Given the description of an element on the screen output the (x, y) to click on. 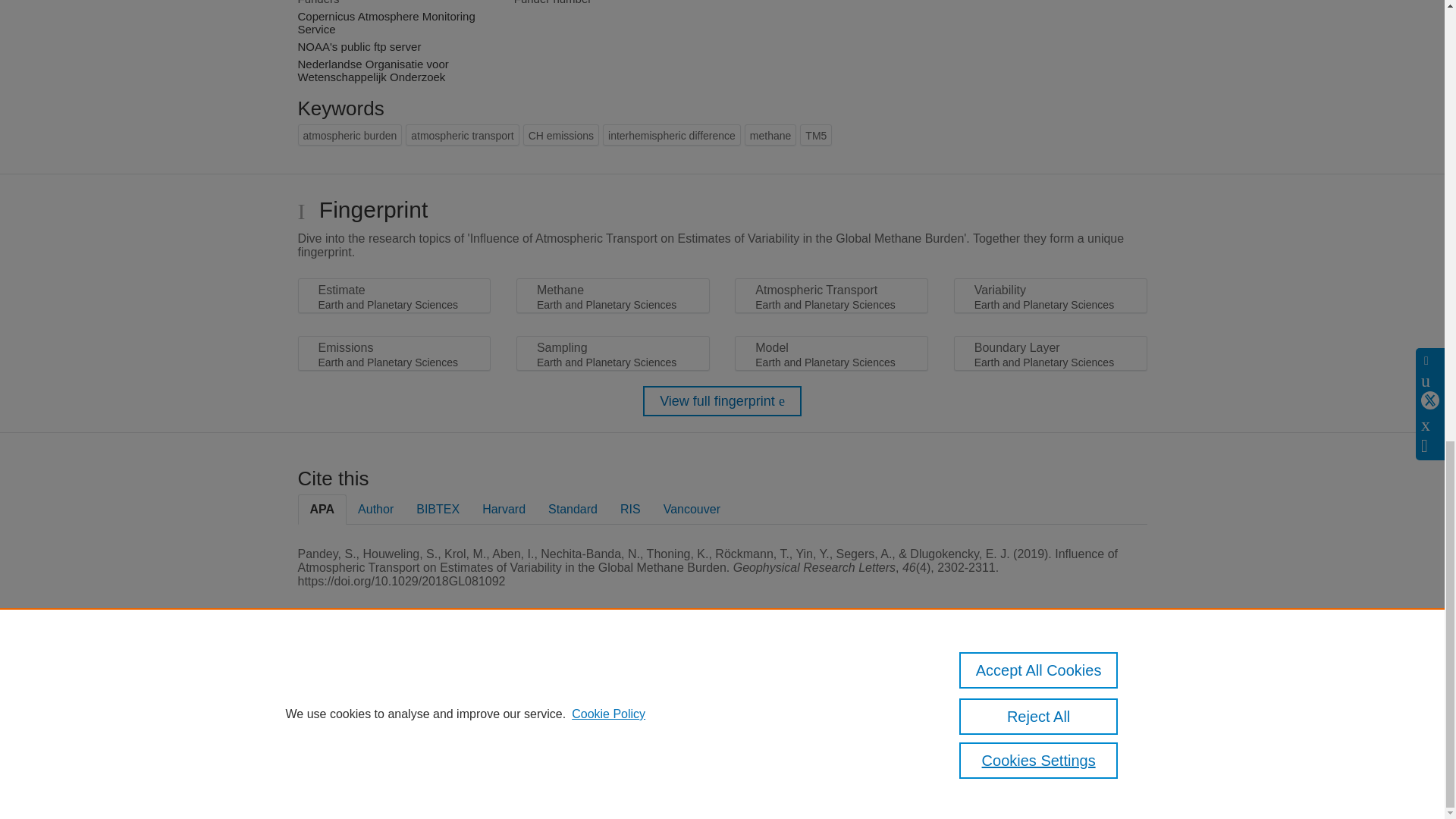
View full fingerprint (722, 400)
